Given the description of an element on the screen output the (x, y) to click on. 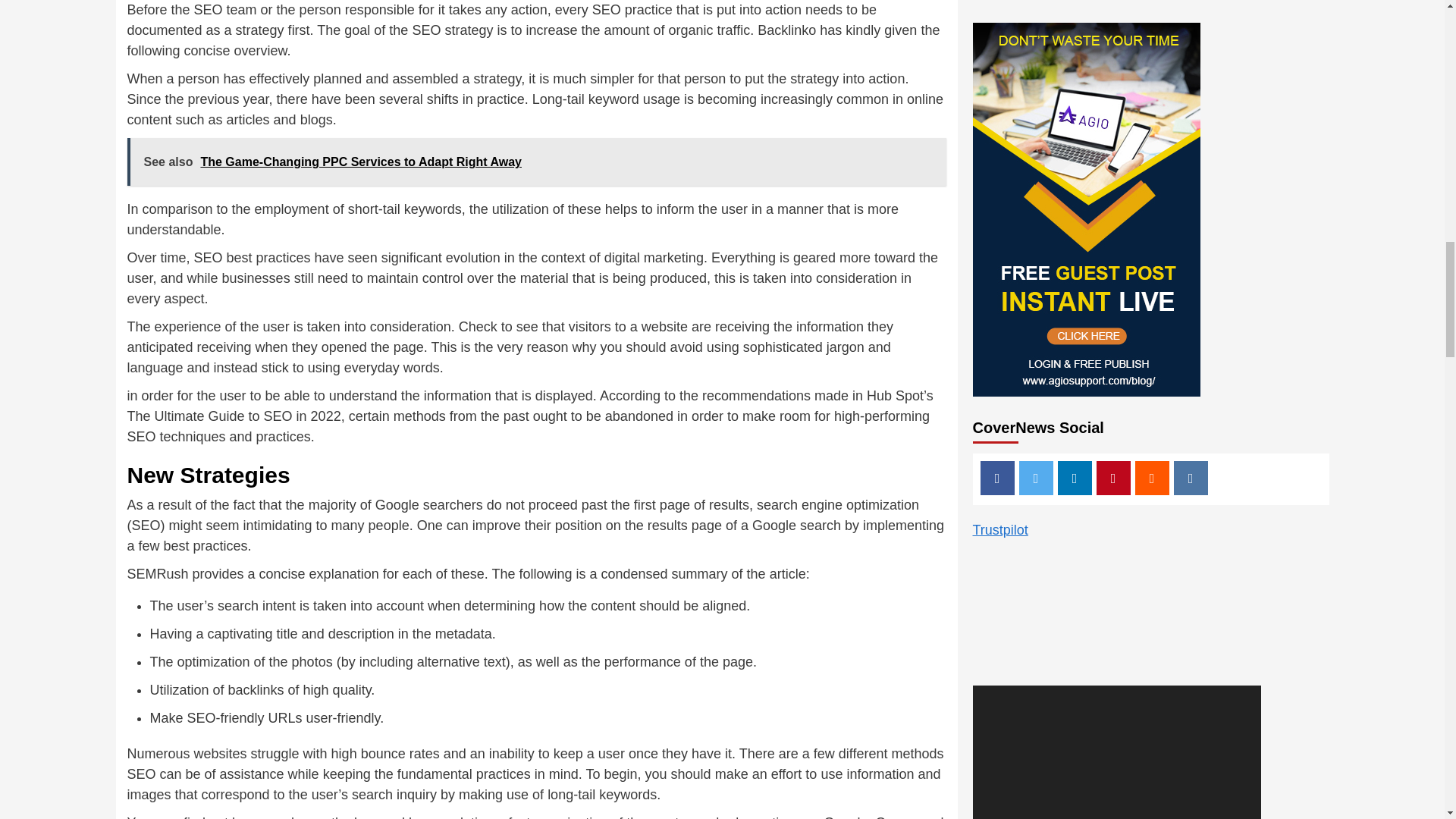
Advertisement (1116, 484)
